Given the description of an element on the screen output the (x, y) to click on. 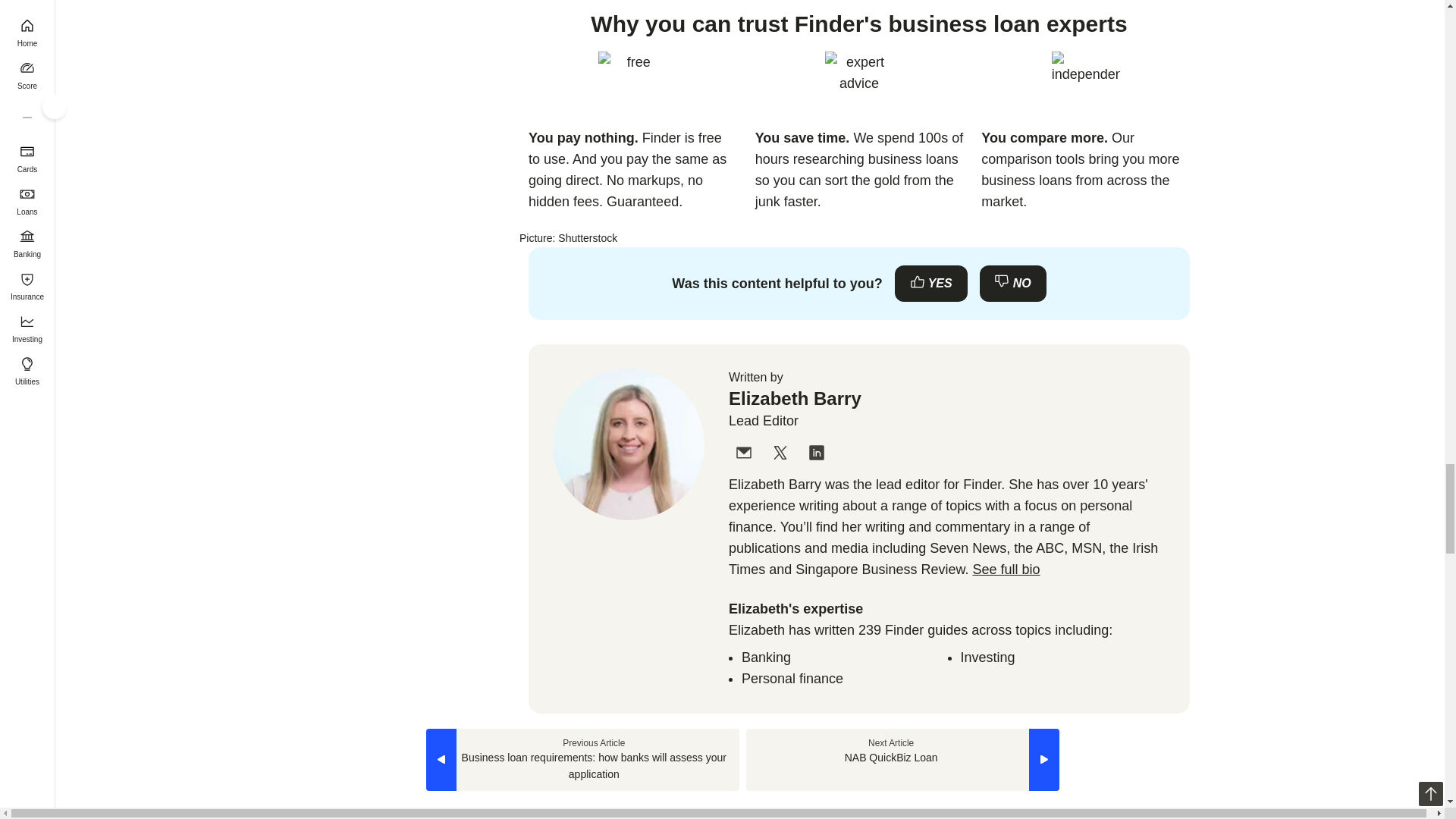
Image: Supplied (1085, 85)
Image: Supplied (632, 85)
Image: Supplied (859, 85)
NAB QuickBiz Loan (902, 759)
